Given the description of an element on the screen output the (x, y) to click on. 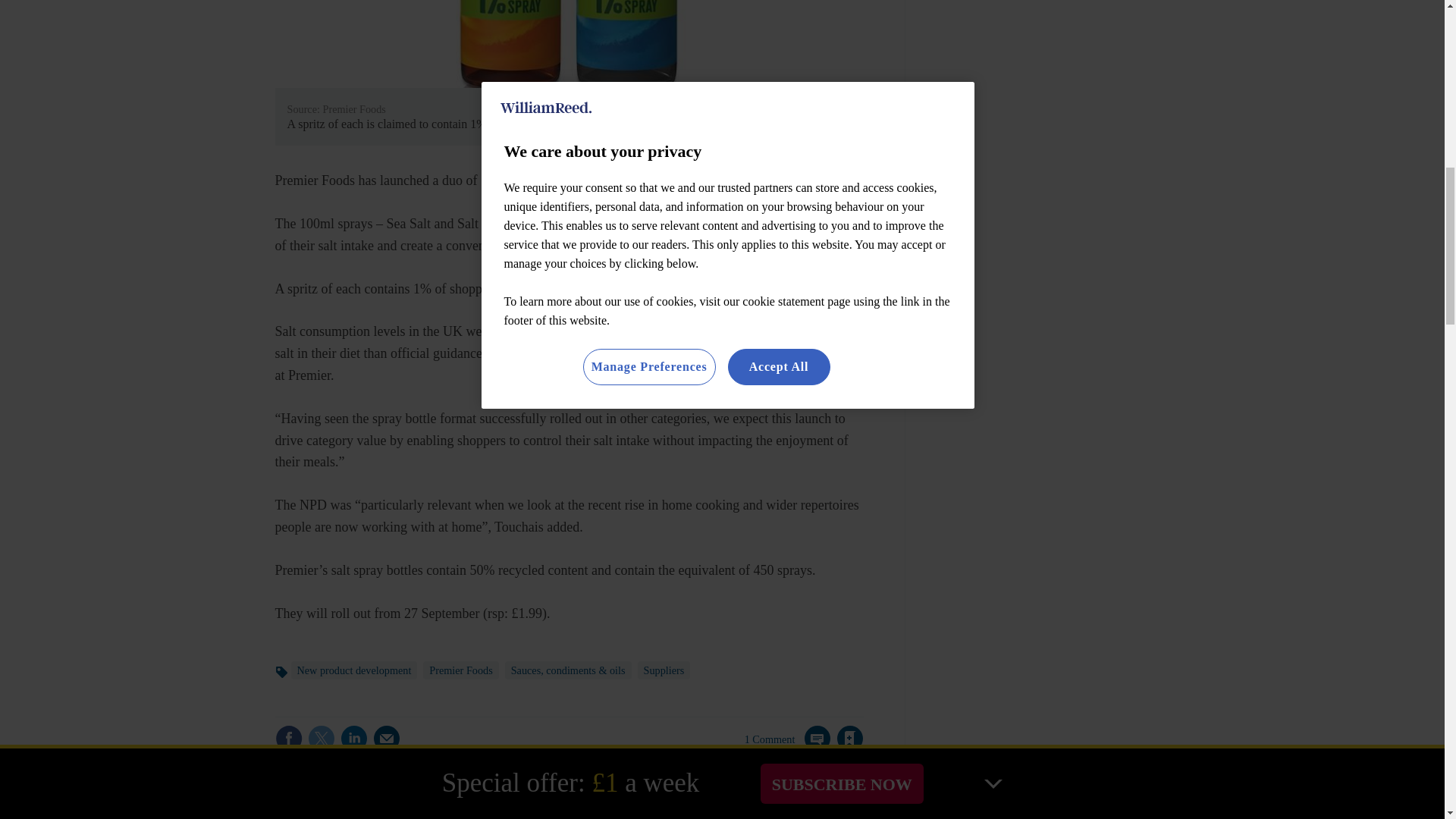
Email this article (386, 738)
Share this on Twitter (320, 738)
Share this on Linked in (352, 738)
Share this on Facebook (288, 738)
1 Comment (787, 747)
